Given the description of an element on the screen output the (x, y) to click on. 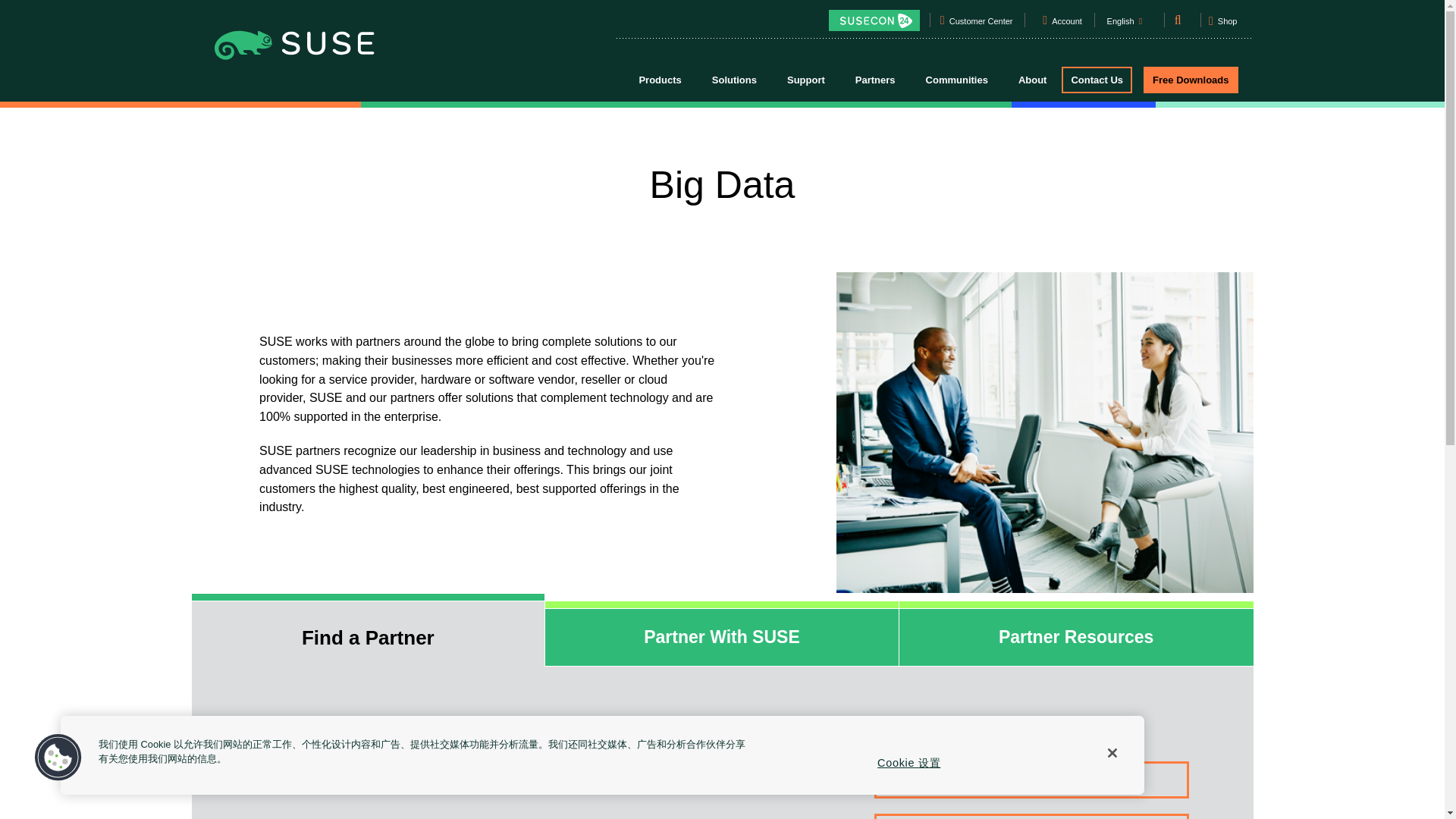
Account (1066, 23)
Customer Center (980, 23)
Cookies Button (57, 757)
Shop (1222, 25)
